Given the description of an element on the screen output the (x, y) to click on. 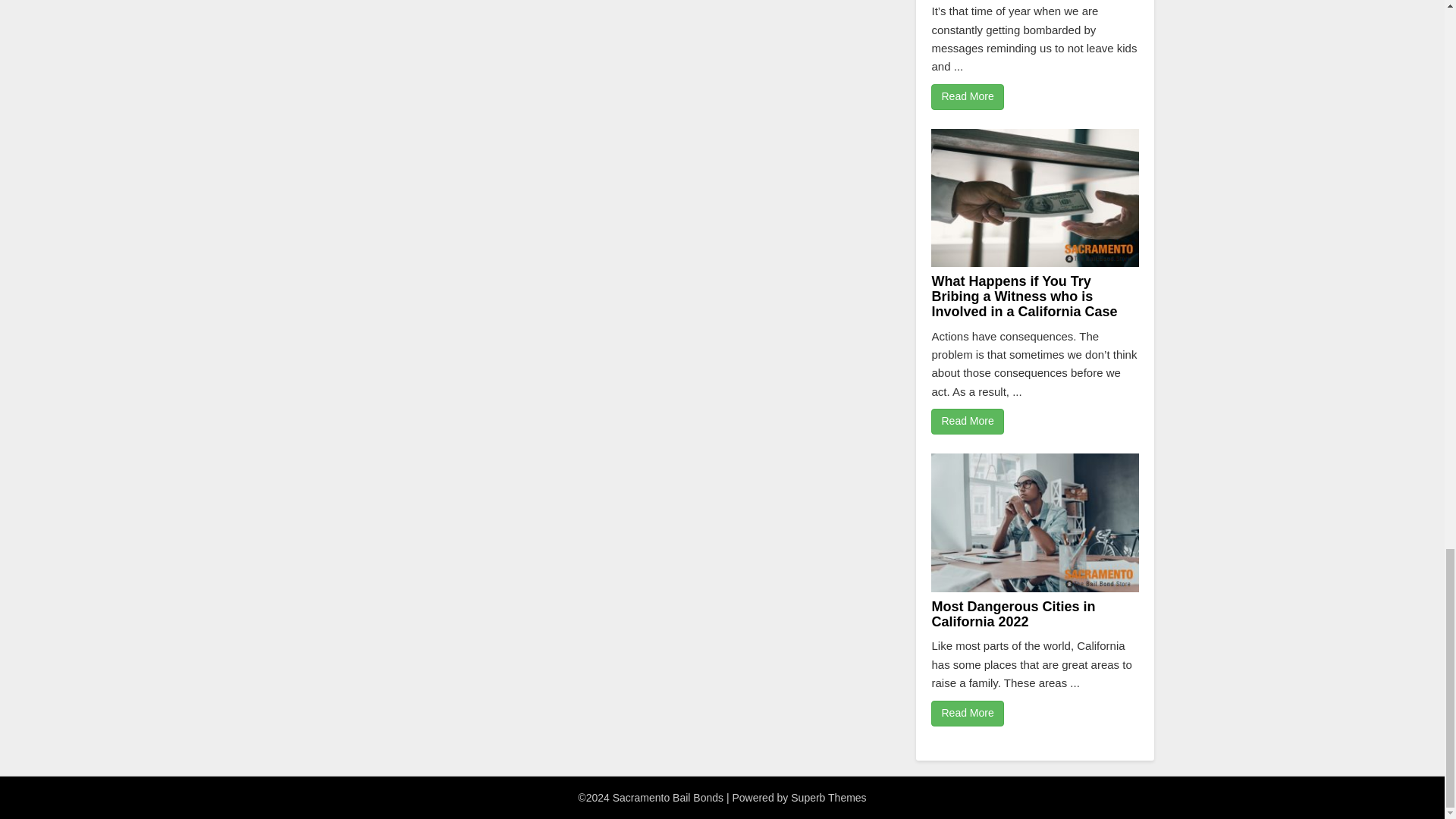
Read More (967, 96)
Read More (967, 421)
Most Dangerous Cities in California 2022 (1012, 613)
Read More (967, 713)
Superb Themes (828, 797)
